Given the description of an element on the screen output the (x, y) to click on. 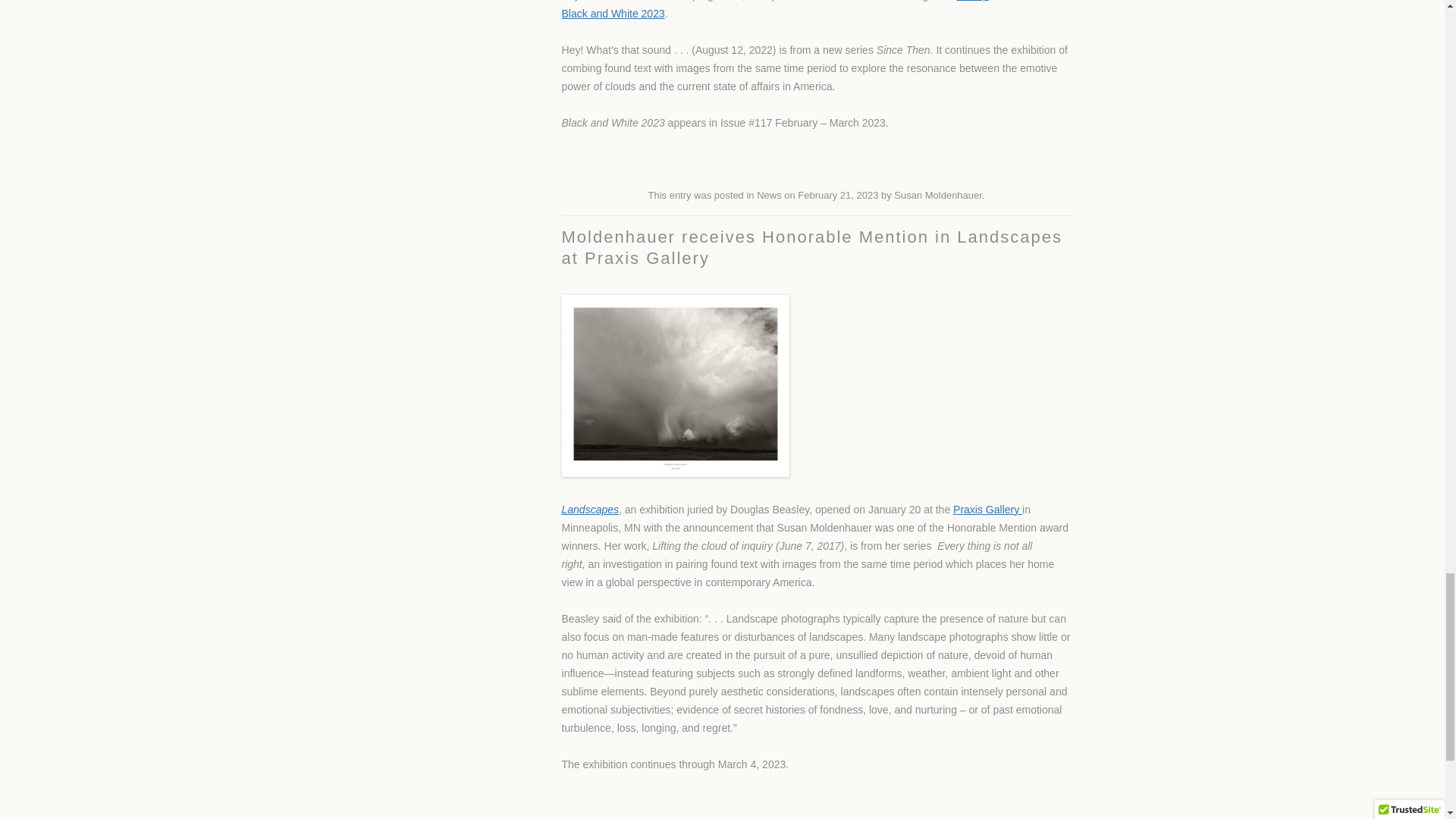
12:37 pm (837, 194)
View all posts by Susan Moldenhauer (937, 194)
